Given the description of an element on the screen output the (x, y) to click on. 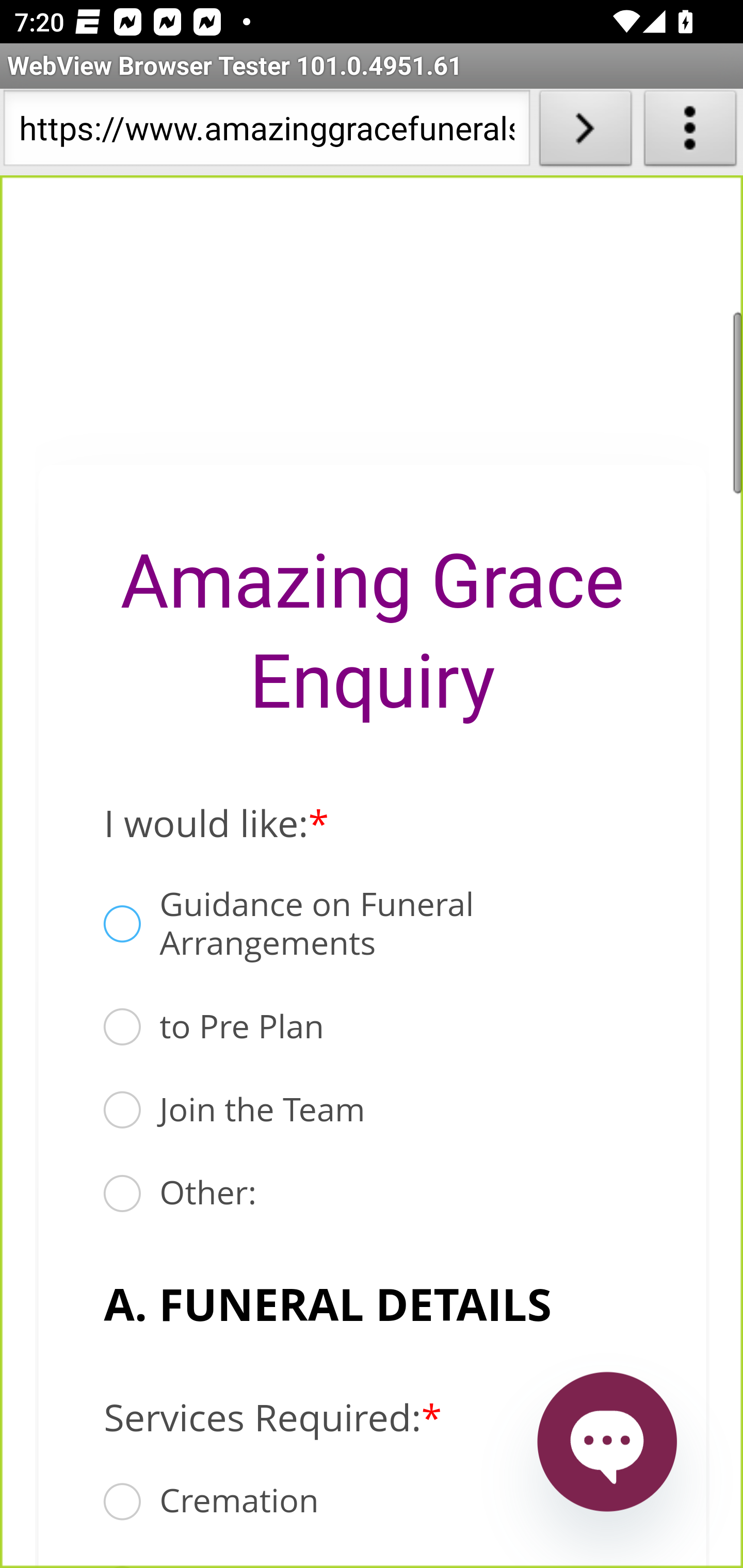
https://www.amazinggracefunerals.com/enquire (266, 132)
Load URL (585, 132)
About WebView (690, 132)
Guidance on Funeral Arrangements (121, 923)
to Pre Plan (121, 1027)
Join the Team (121, 1110)
Other: (121, 1193)
WhatsApp (606, 1442)
Cremation (121, 1501)
